Given the description of an element on the screen output the (x, y) to click on. 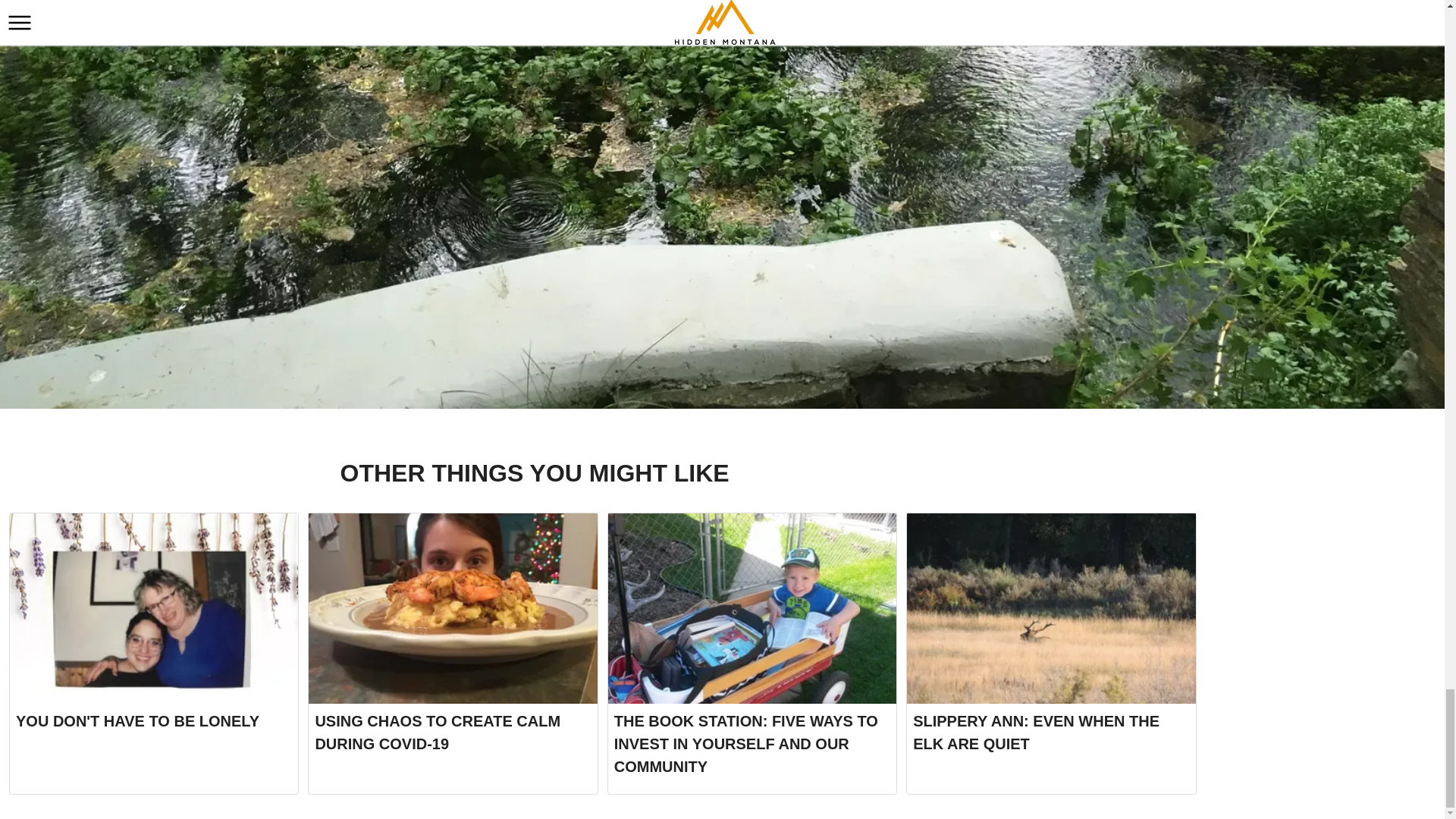
USING CHAOS TO CREATE CALM DURING COVID-19 (452, 653)
SLIPPERY ANN: EVEN WHEN THE ELK ARE QUIET (1051, 653)
YOU DON'T HAVE TO BE LONELY (154, 653)
